Given the description of an element on the screen output the (x, y) to click on. 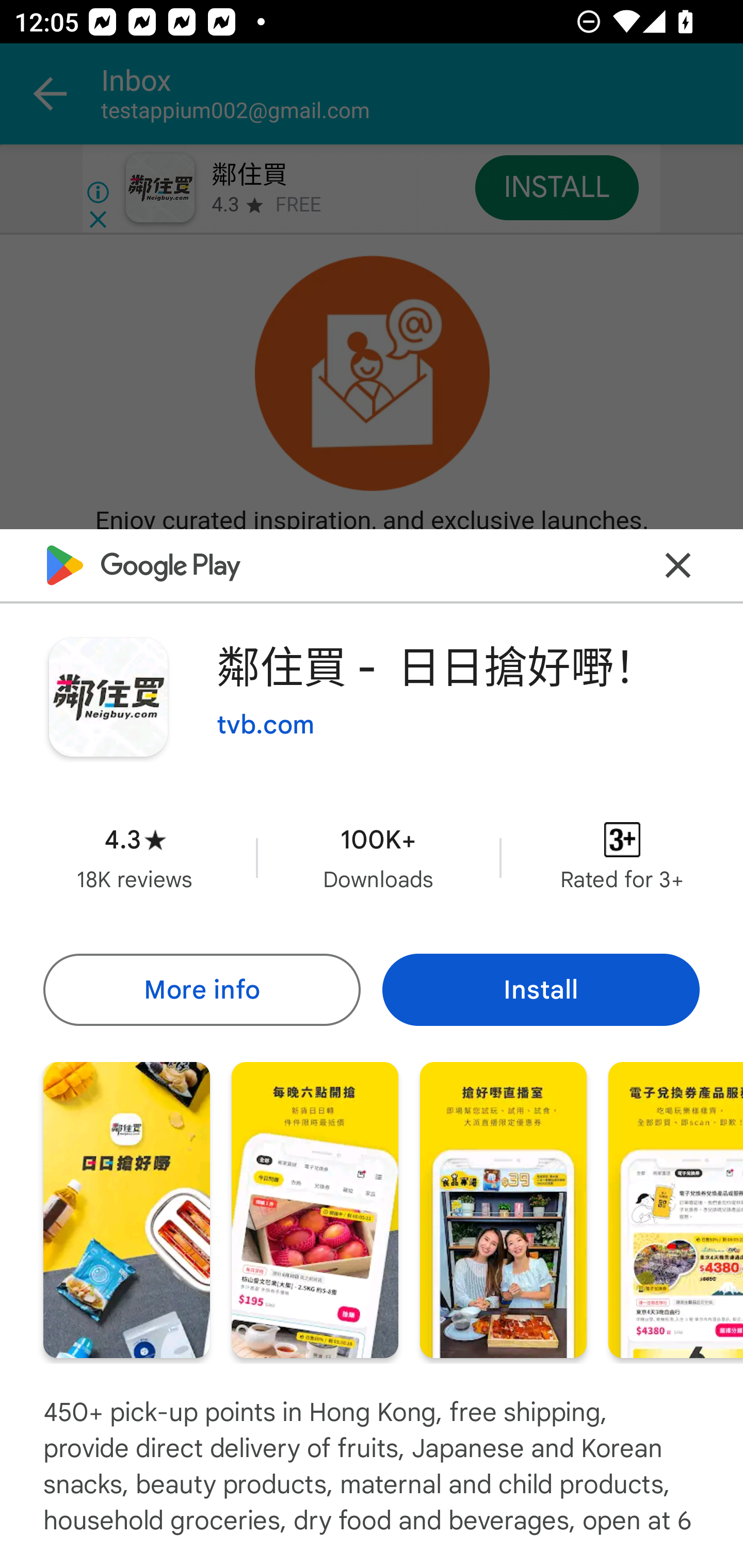
Close (677, 565)
Image of app or game icon for 鄰住買 -  日日搶好嘢！ (108, 696)
tvb.com (265, 724)
More info (201, 989)
Install (540, 989)
Screenshot "1" of "7" (126, 1209)
Screenshot "2" of "7" (314, 1209)
Screenshot "3" of "7" (502, 1209)
Screenshot "4" of "7" (675, 1209)
